Given the description of an element on the screen output the (x, y) to click on. 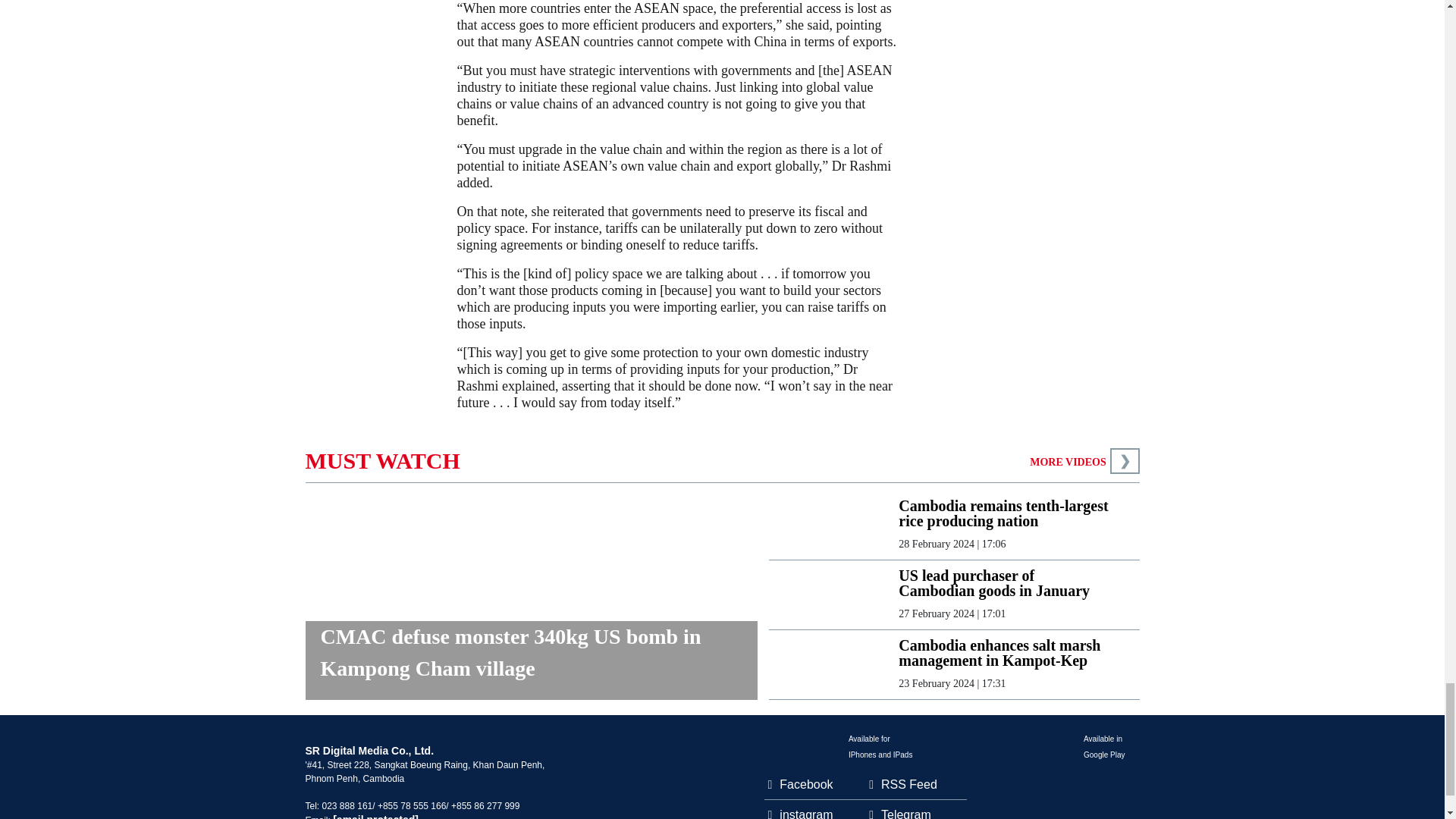
Cambodia remains tenth-largest rice producing nation (1005, 512)
MORE VIDEOS (1067, 461)
CMAC defuse monster 340kg US bomb in Kampong Cham village (530, 660)
